Given the description of an element on the screen output the (x, y) to click on. 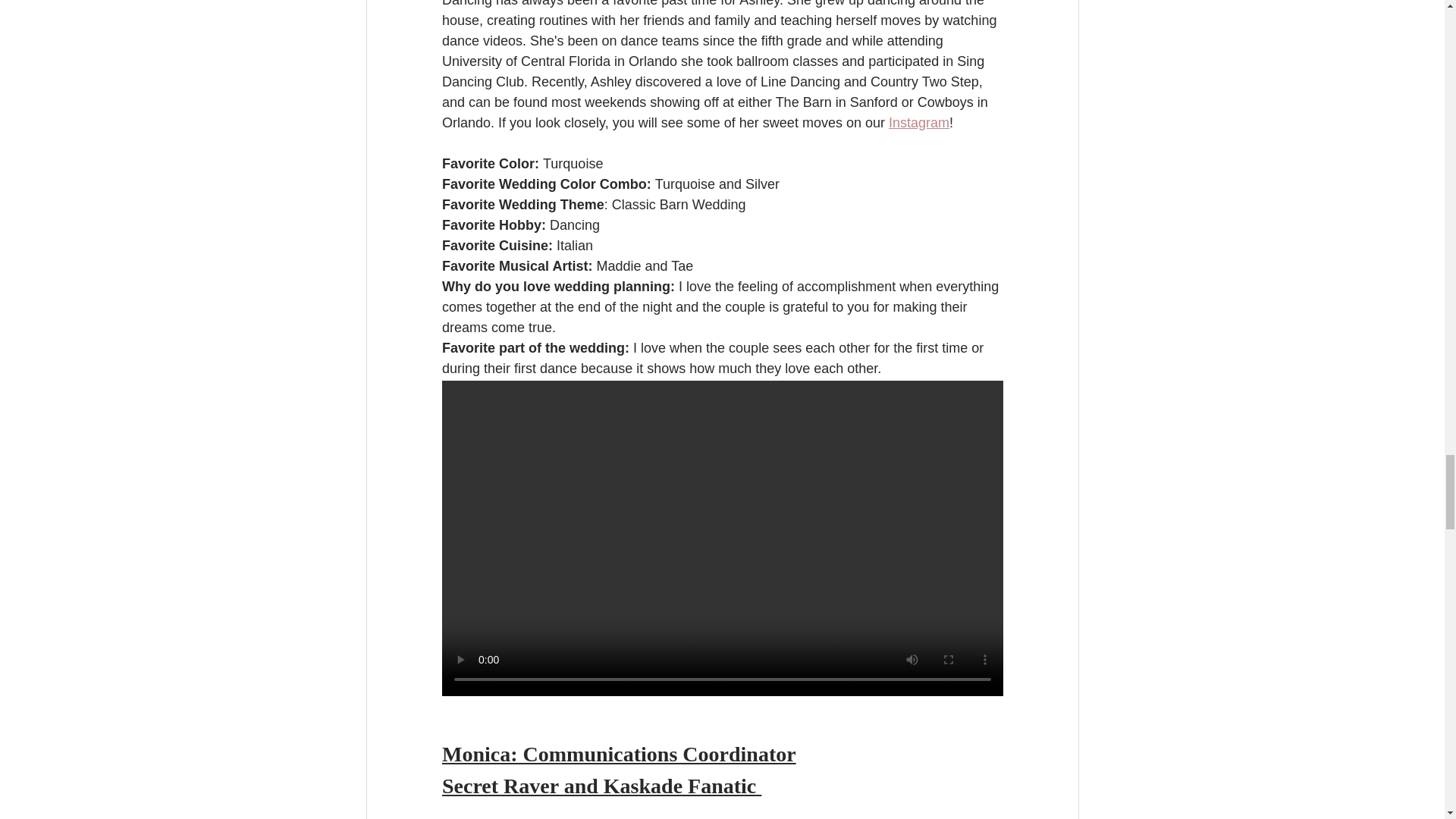
Instagram (918, 122)
